Given the description of an element on the screen output the (x, y) to click on. 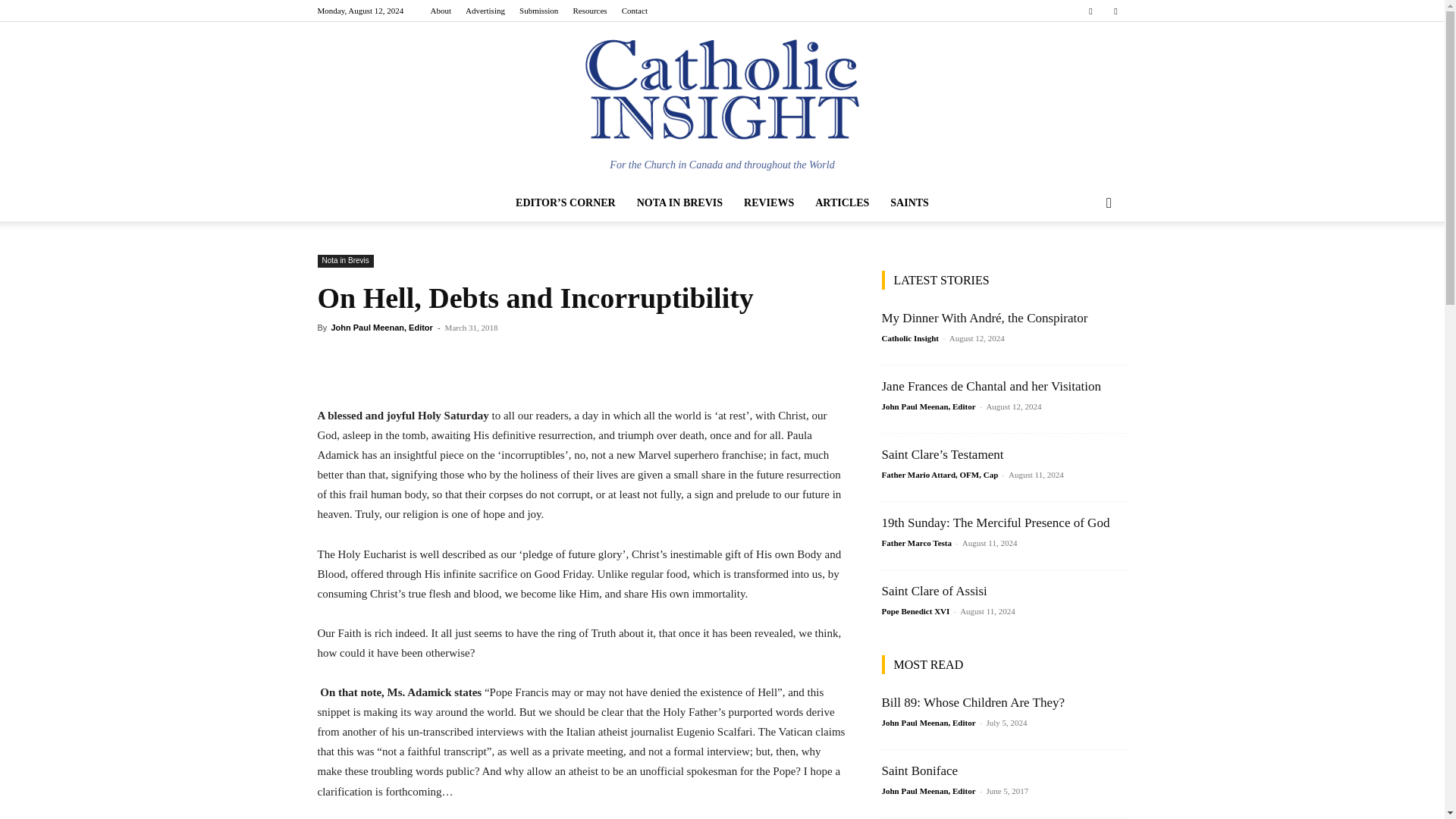
Catholic Insight (721, 89)
Search (1085, 263)
Facebook (1090, 10)
John Paul Meenan, Editor (381, 327)
Contact (634, 10)
REVIEWS (769, 203)
Nota in Brevis (344, 260)
SAINTS (909, 203)
Submission (538, 10)
Resources (589, 10)
